Given the description of an element on the screen output the (x, y) to click on. 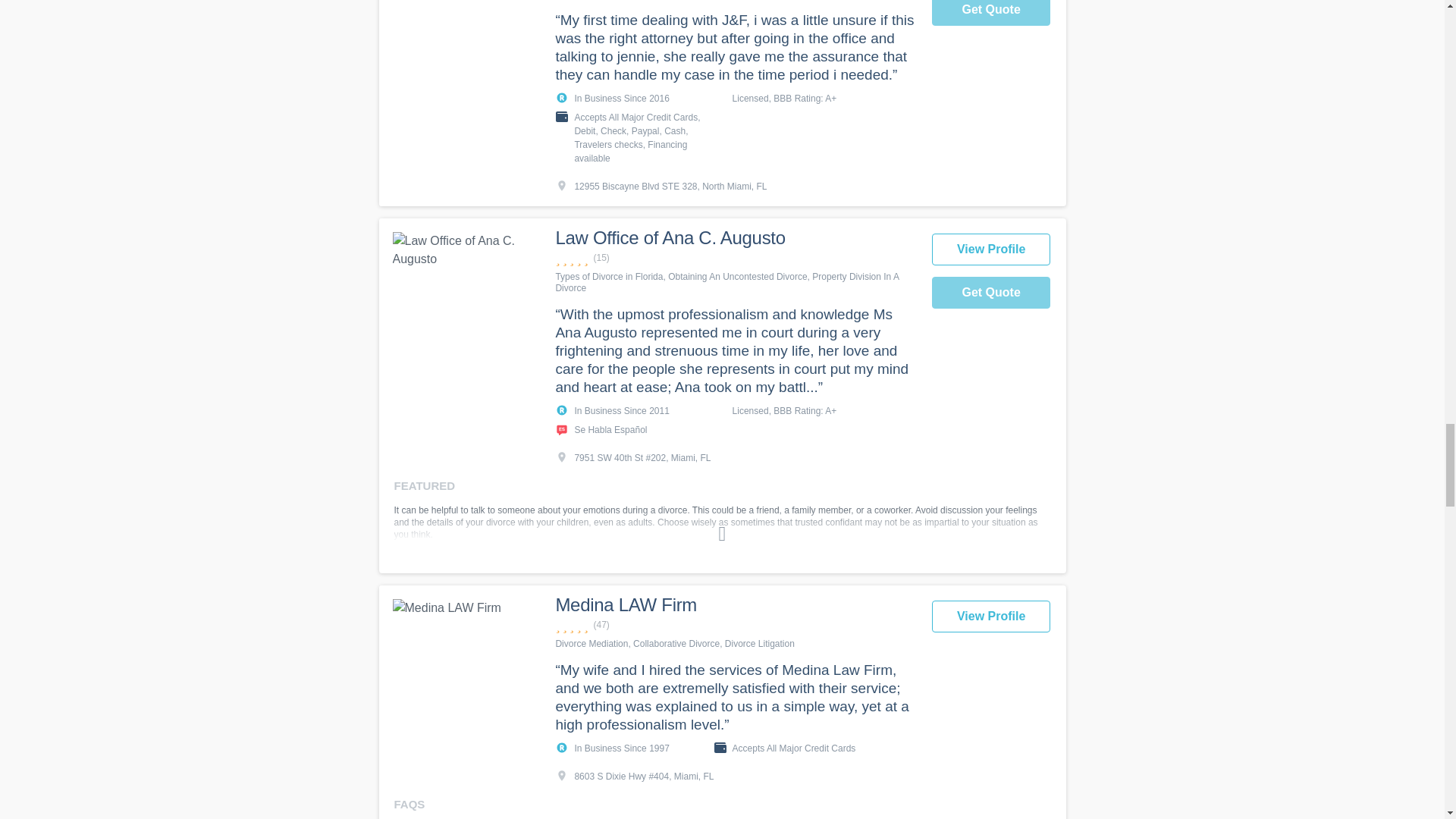
4.9 (734, 257)
4.7 (734, 625)
